Given the description of an element on the screen output the (x, y) to click on. 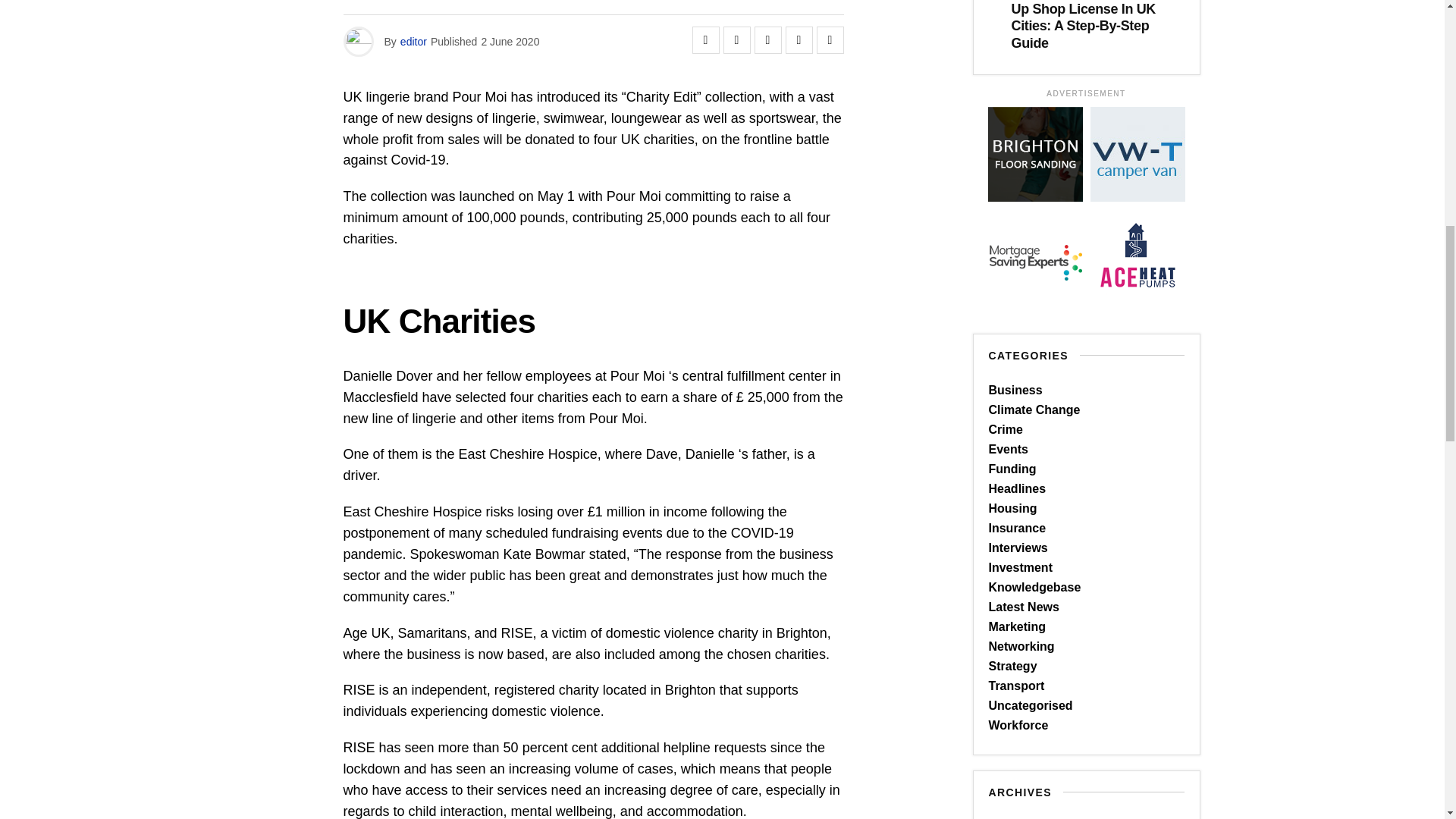
Share on Facebook (705, 40)
Share on Flipboard (767, 40)
Tweet This Post (737, 40)
Posts by editor (413, 41)
